Given the description of an element on the screen output the (x, y) to click on. 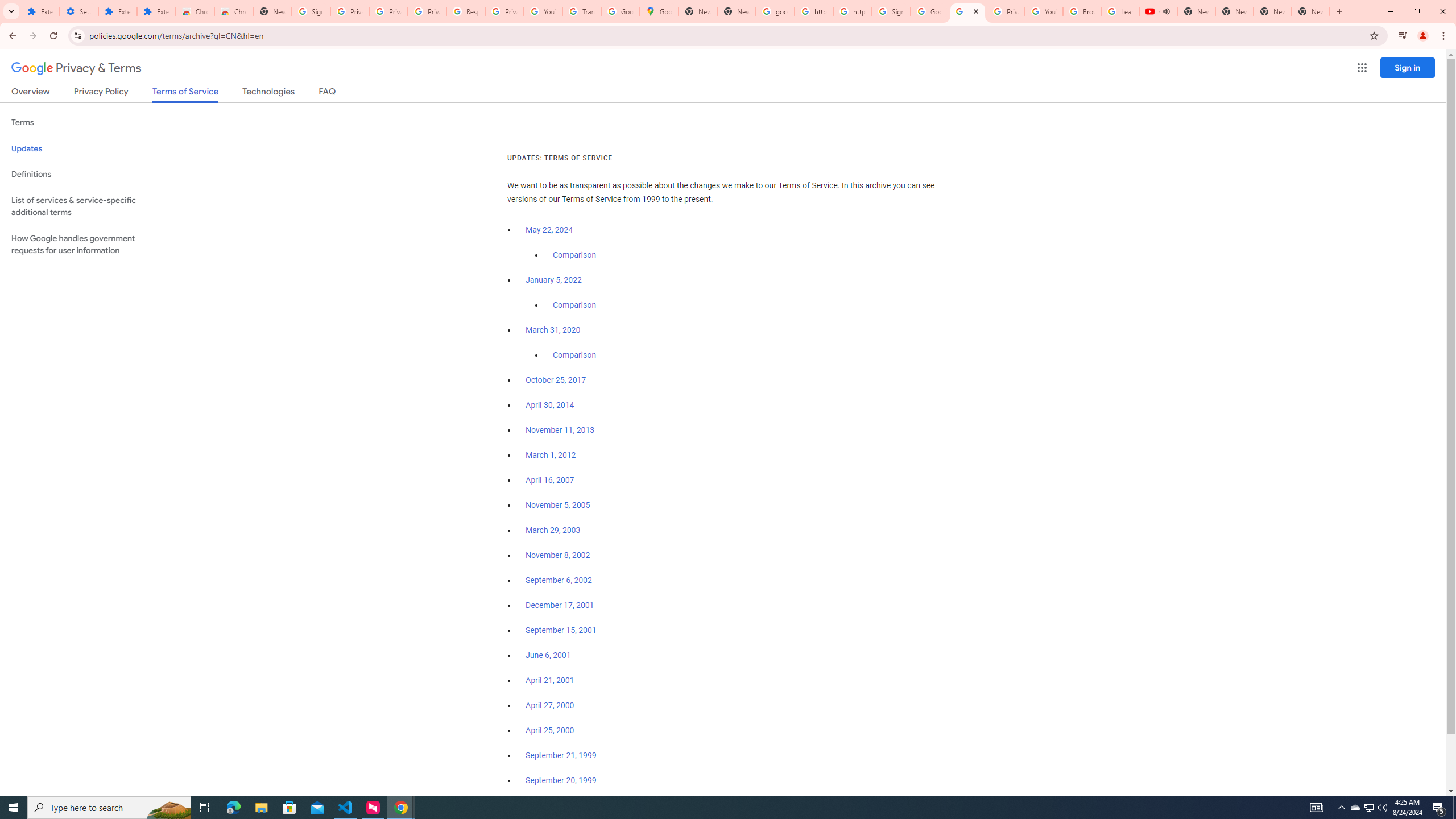
April 21, 2001 (550, 679)
YouTube (542, 11)
October 25, 2017 (555, 380)
Google Maps (659, 11)
March 29, 2003 (552, 530)
https://scholar.google.com/ (813, 11)
New Tab (272, 11)
